Given the description of an element on the screen output the (x, y) to click on. 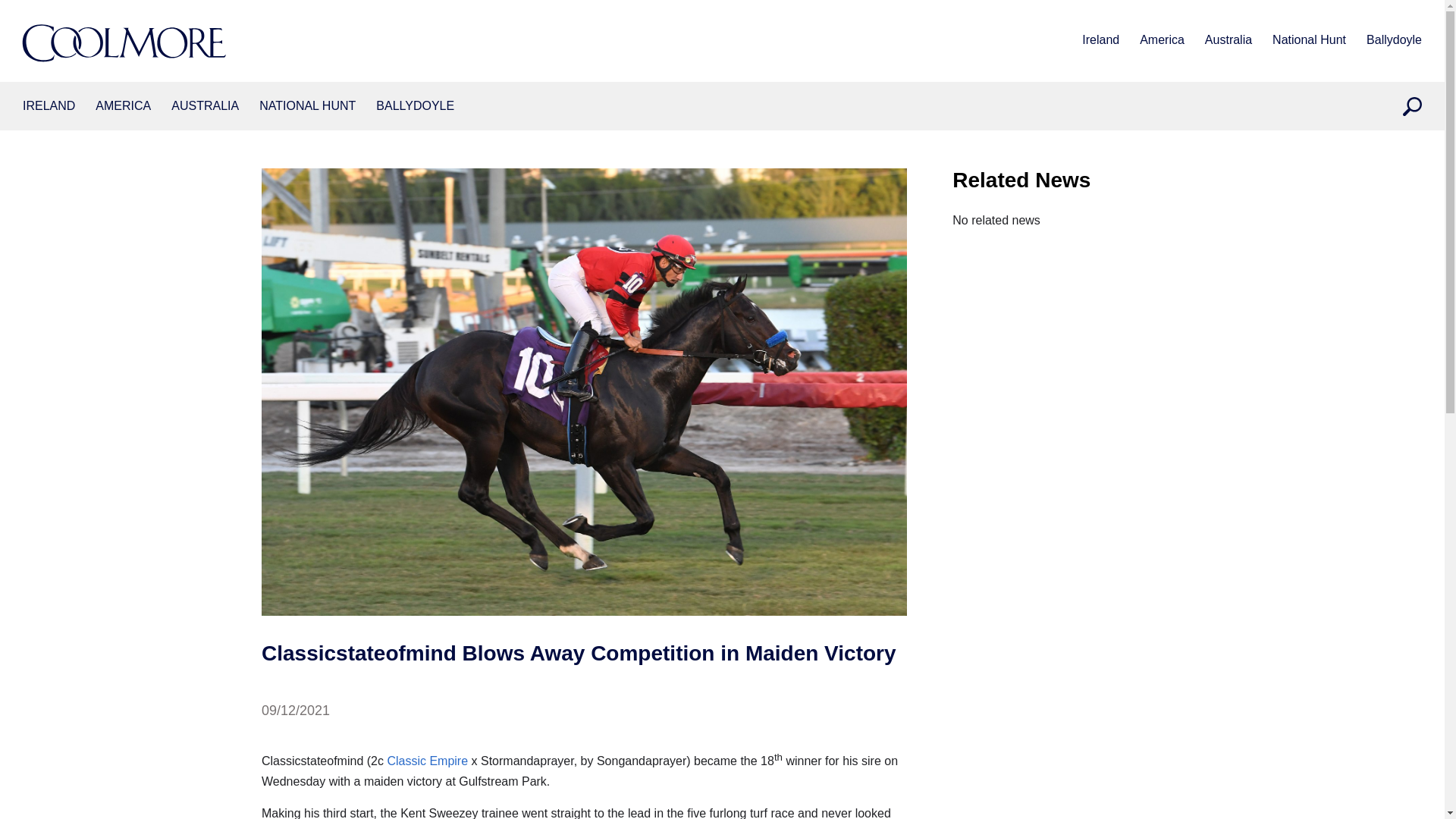
AMERICA (123, 106)
Ballydoyle (414, 106)
IRELAND (49, 106)
Australia (204, 106)
icon-magCreated with Sketch. (1412, 106)
Ballydoyle (1394, 40)
National Hunt (1308, 40)
AUSTRALIA (204, 106)
Ireland (1100, 40)
Classic Empire (427, 760)
